Given the description of an element on the screen output the (x, y) to click on. 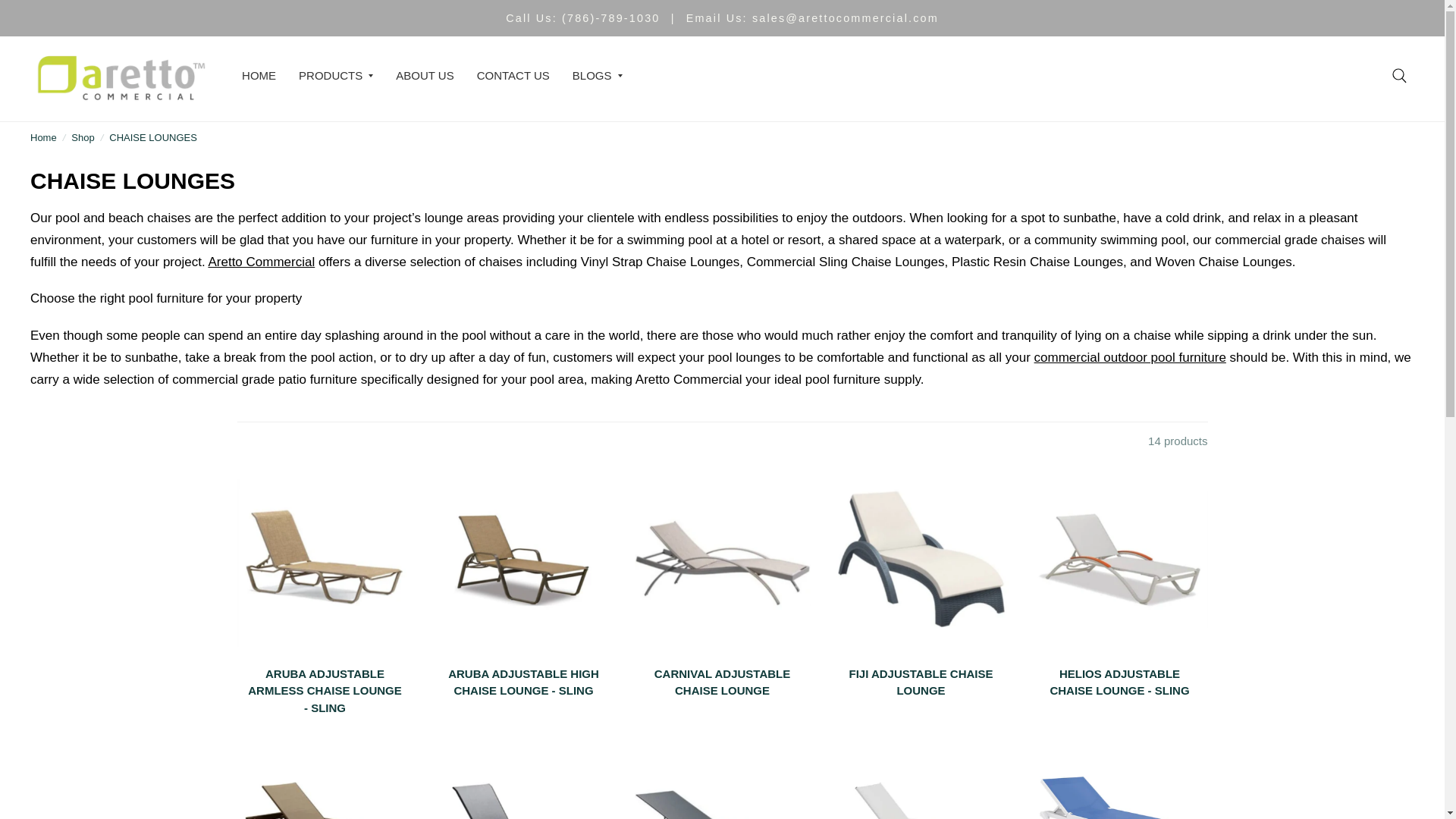
HOME (258, 75)
PRODUCTS (335, 75)
